Given the description of an element on the screen output the (x, y) to click on. 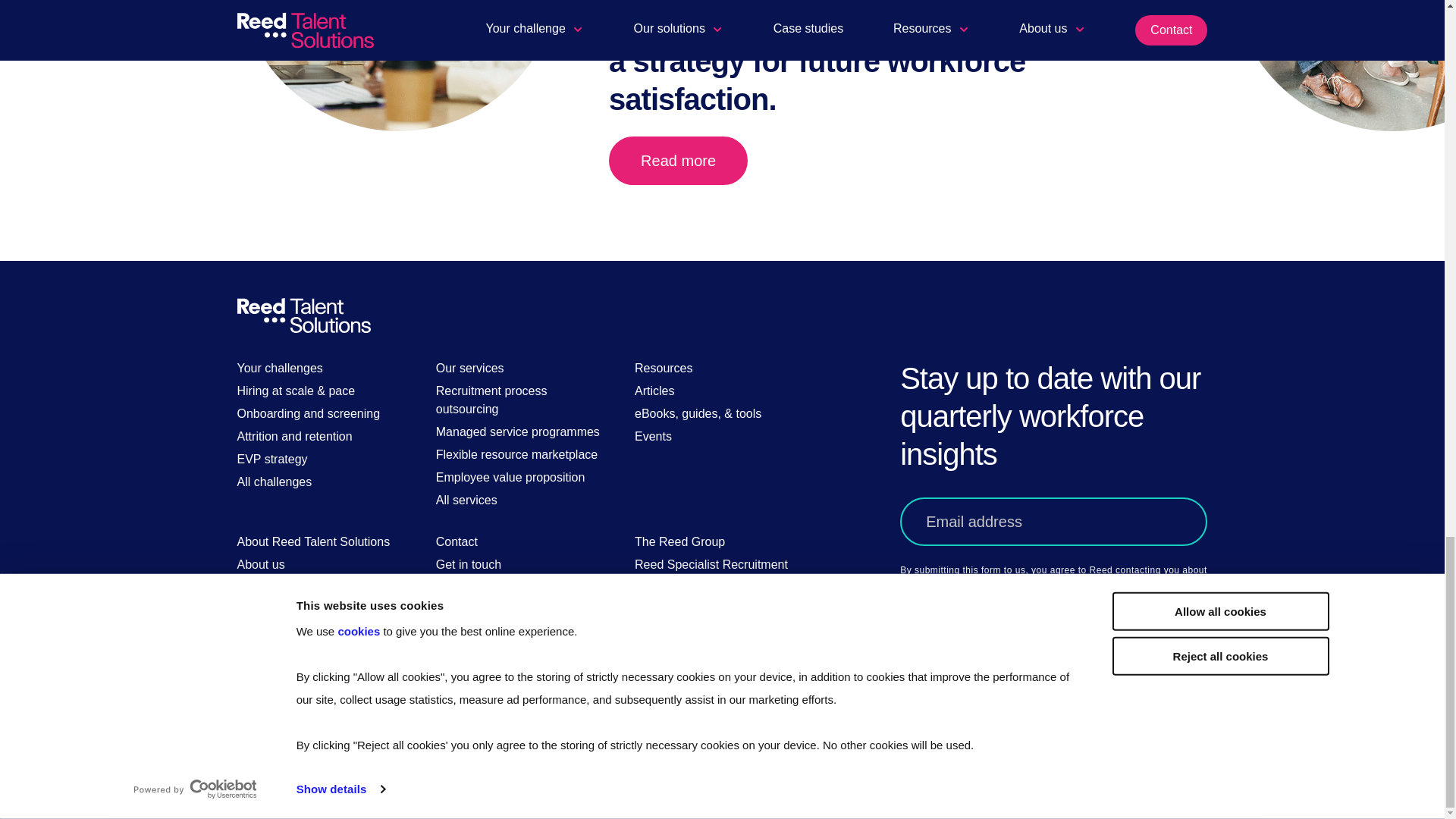
Submit (991, 697)
